Given the description of an element on the screen output the (x, y) to click on. 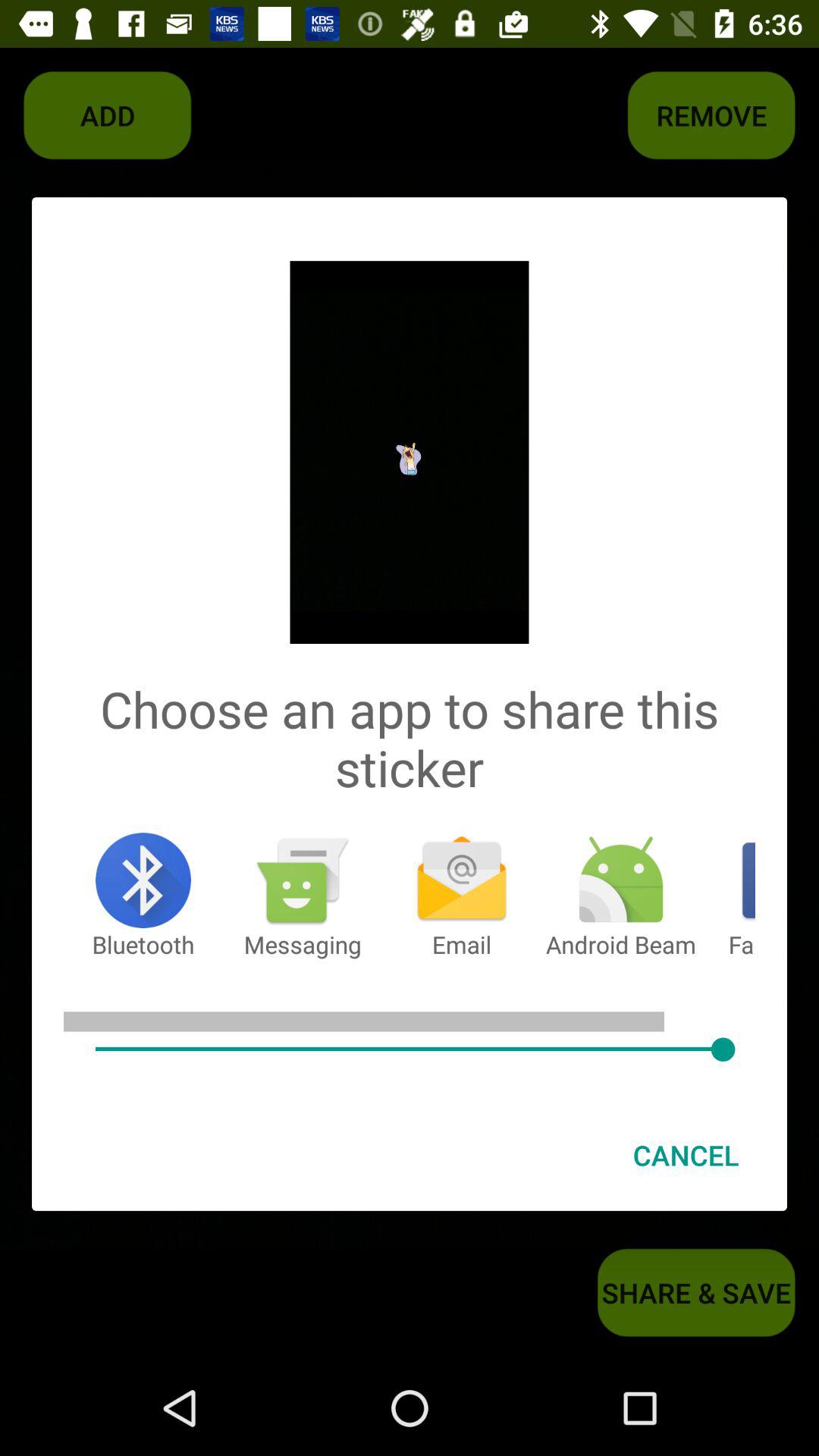
choose cancel item (686, 1154)
